Given the description of an element on the screen output the (x, y) to click on. 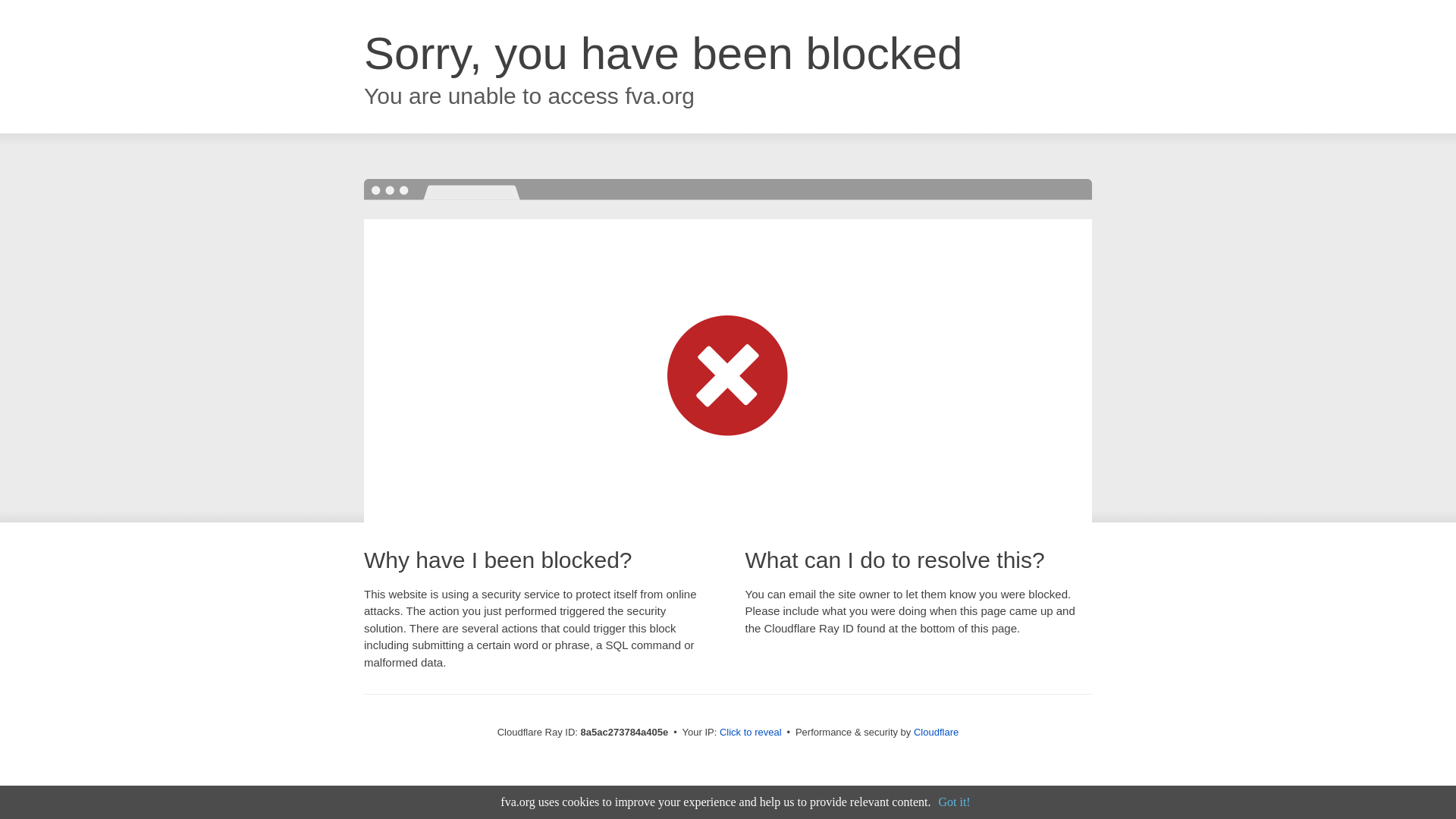
Cloudflare (936, 731)
Click to reveal (750, 732)
